Given the description of an element on the screen output the (x, y) to click on. 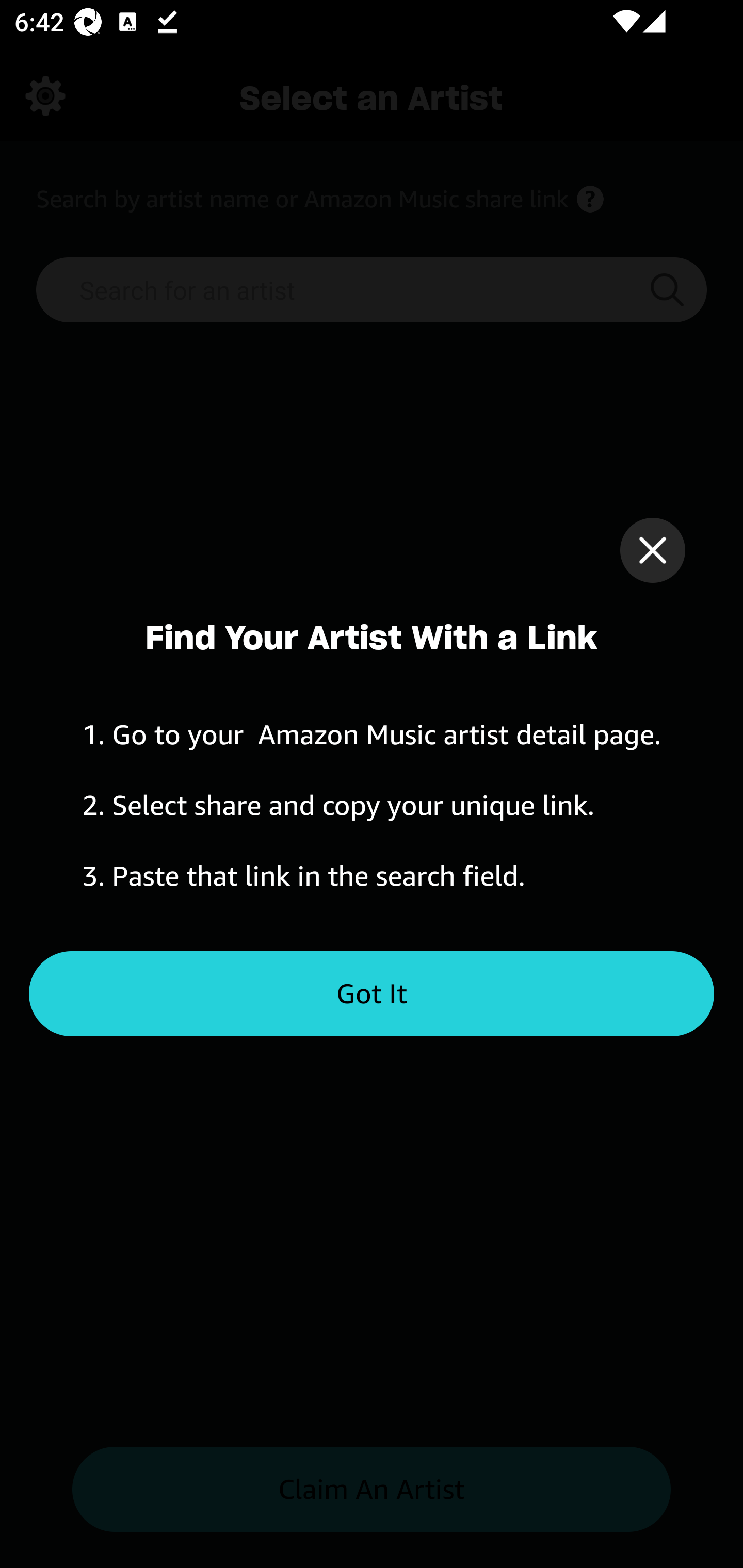
Generic_dismiss  icon (652, 550)
Got it button Got It (371, 993)
